Given the description of an element on the screen output the (x, y) to click on. 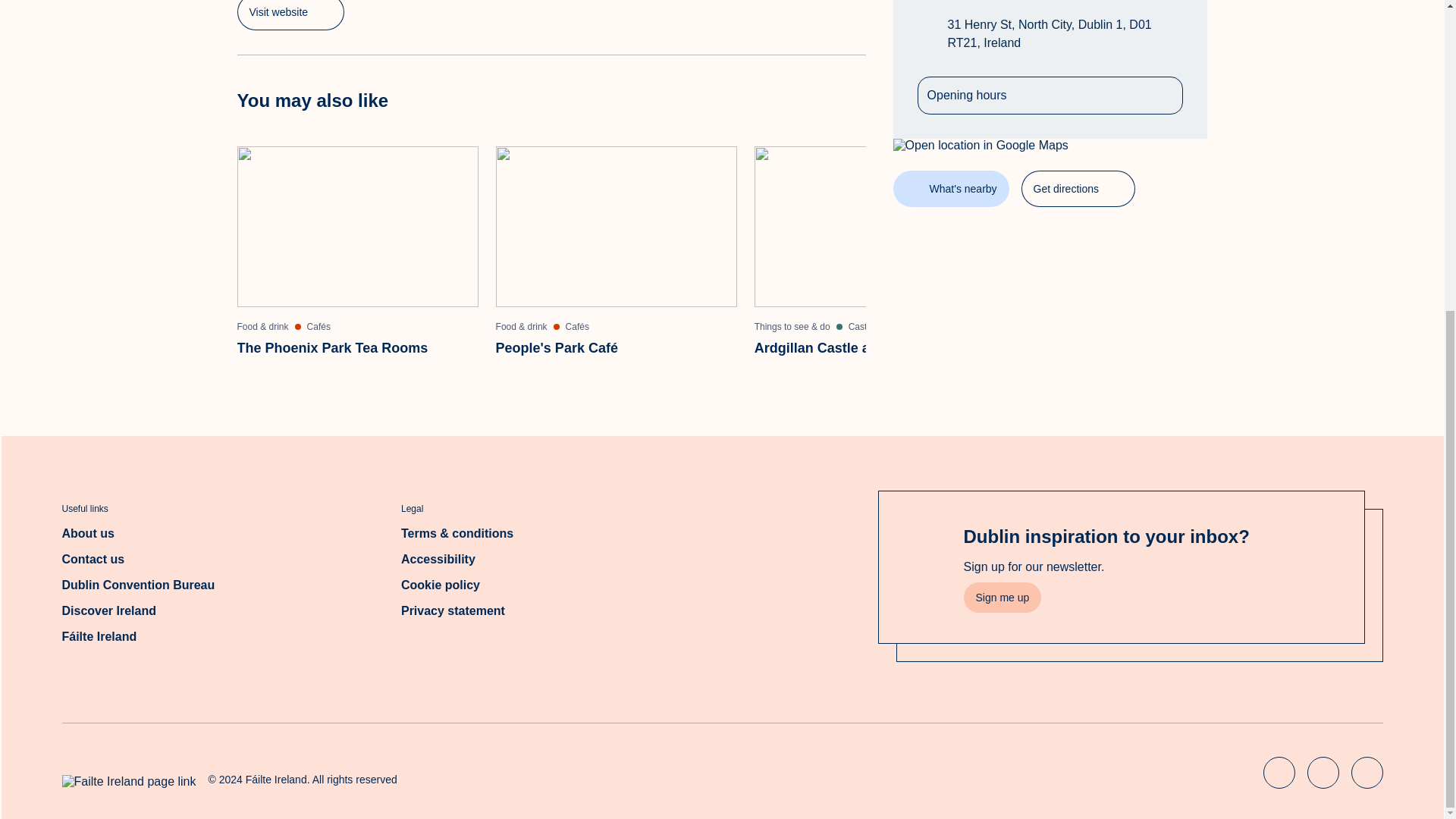
The Phoenix Park Tea Rooms (289, 15)
